Given the description of an element on the screen output the (x, y) to click on. 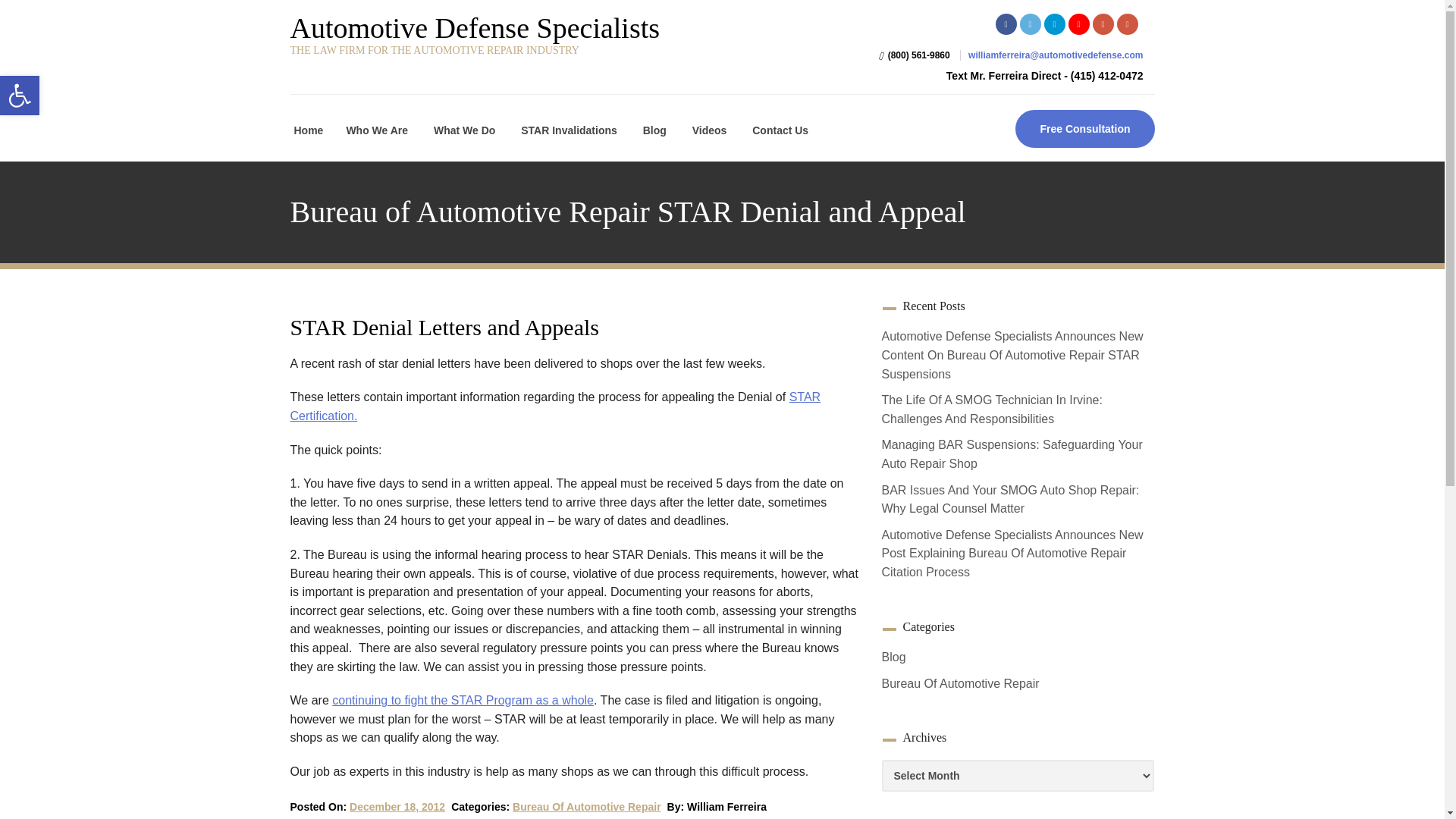
Automotive Defense Specialists (527, 27)
Free Consultation (1084, 128)
Managing BAR Suspensions: Safeguarding Your Auto Repair Shop (1010, 454)
star litigation (462, 699)
 What We Do (462, 130)
continuing to fight the STAR Program as a whole (19, 95)
Videos (462, 699)
 Videos (707, 130)
